Given the description of an element on the screen output the (x, y) to click on. 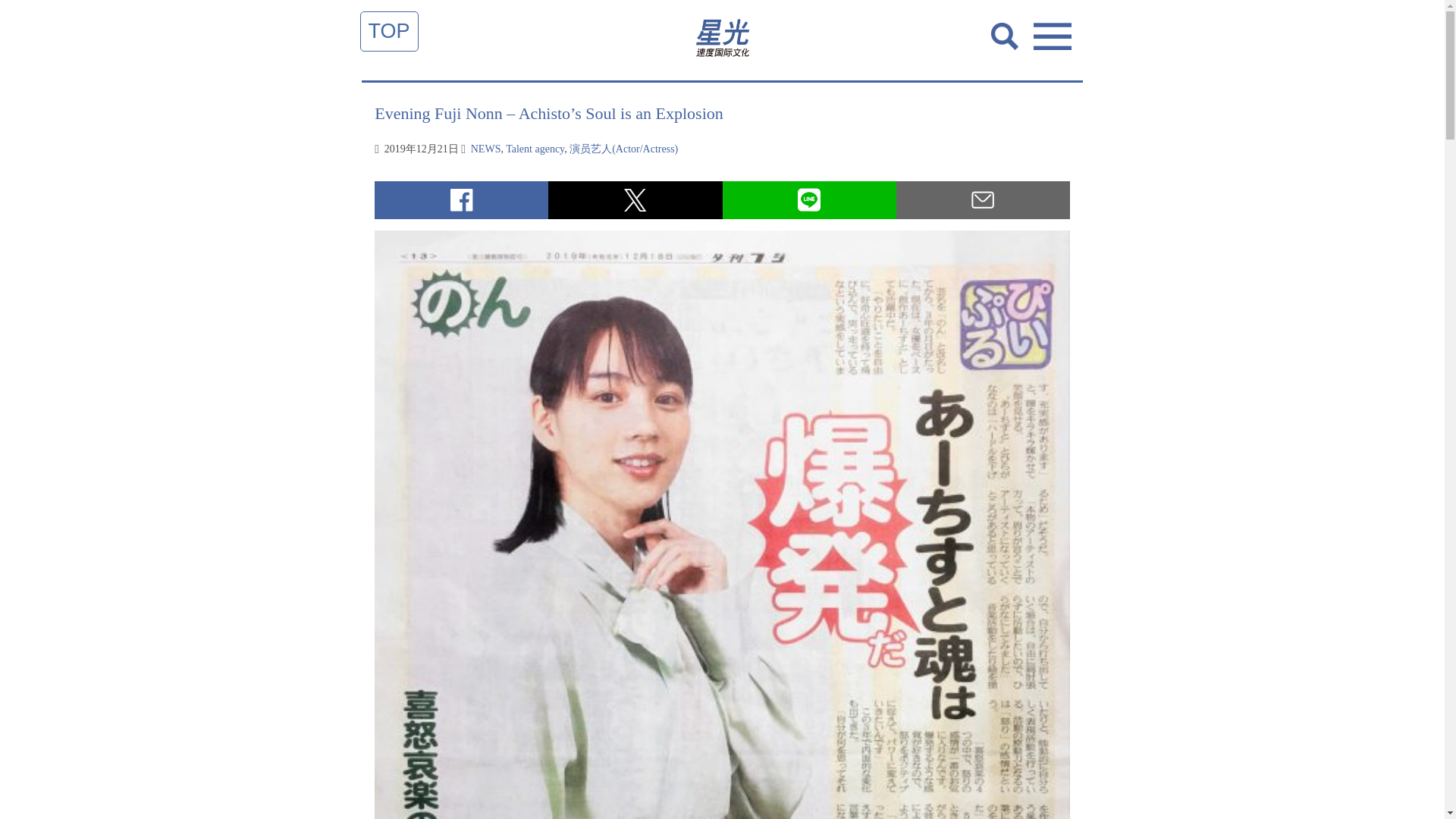
TOP (389, 30)
Talent agency (534, 147)
NEWS (485, 147)
